Given the description of an element on the screen output the (x, y) to click on. 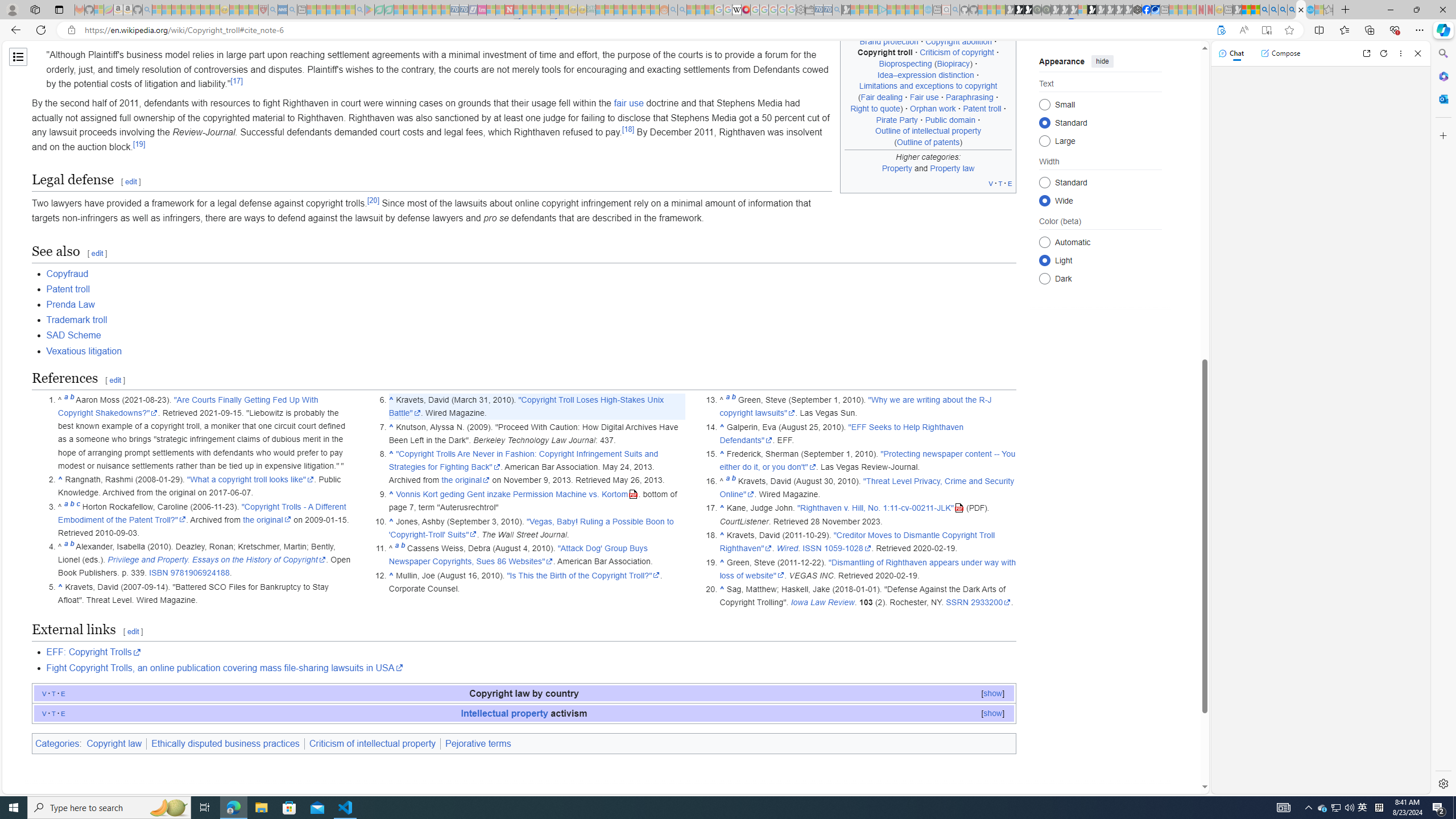
Automatic (1044, 241)
1059-1028 (848, 548)
Side bar (1443, 418)
Jobs - lastminute.com Investor Portal - Sleeping (482, 9)
Criticism of intellectual property (372, 743)
9781906924188 (200, 573)
Outline of intellectual property (928, 130)
the original (465, 479)
